Given the description of an element on the screen output the (x, y) to click on. 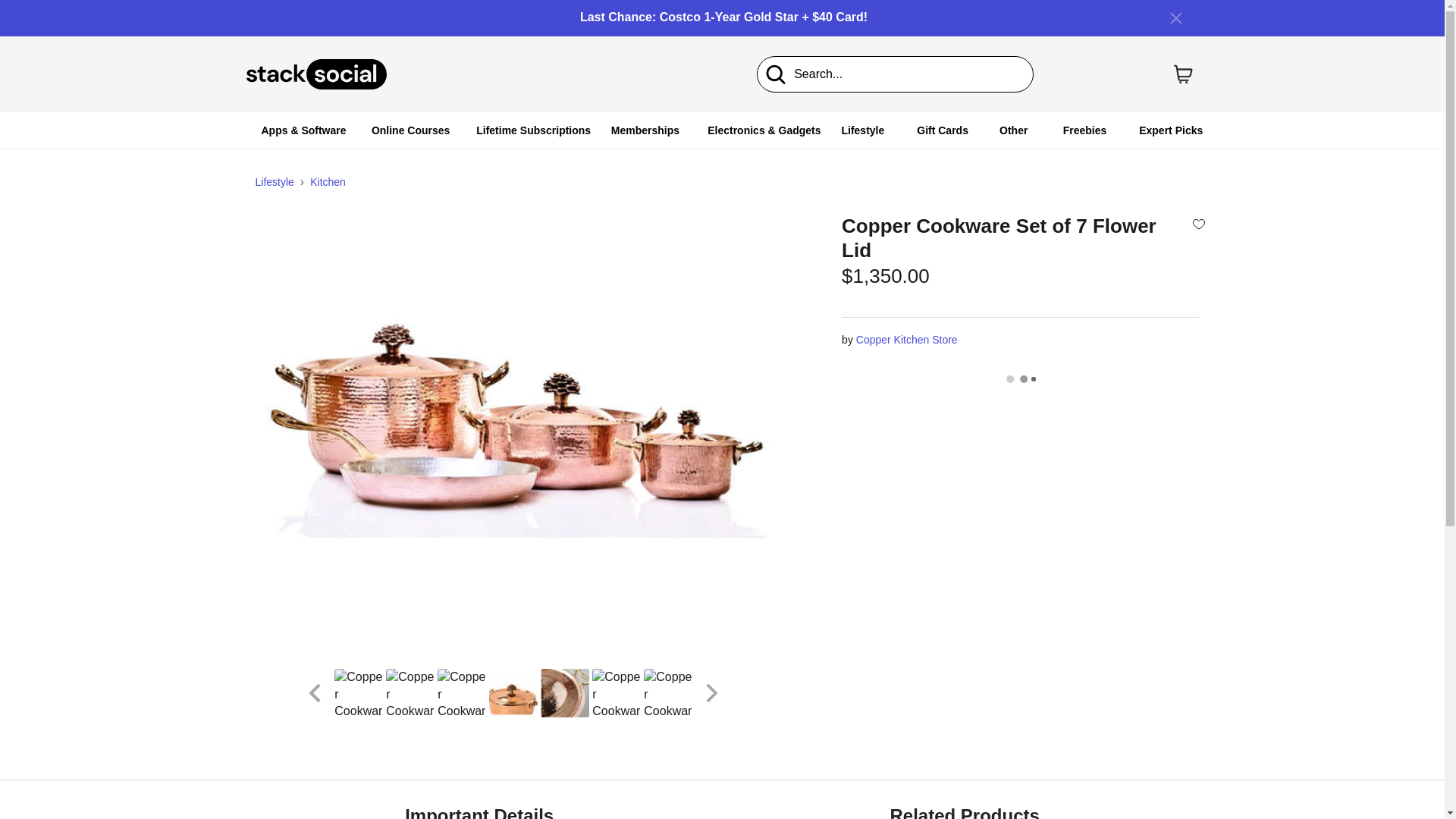
Add to wishlist (1198, 223)
